Given the description of an element on the screen output the (x, y) to click on. 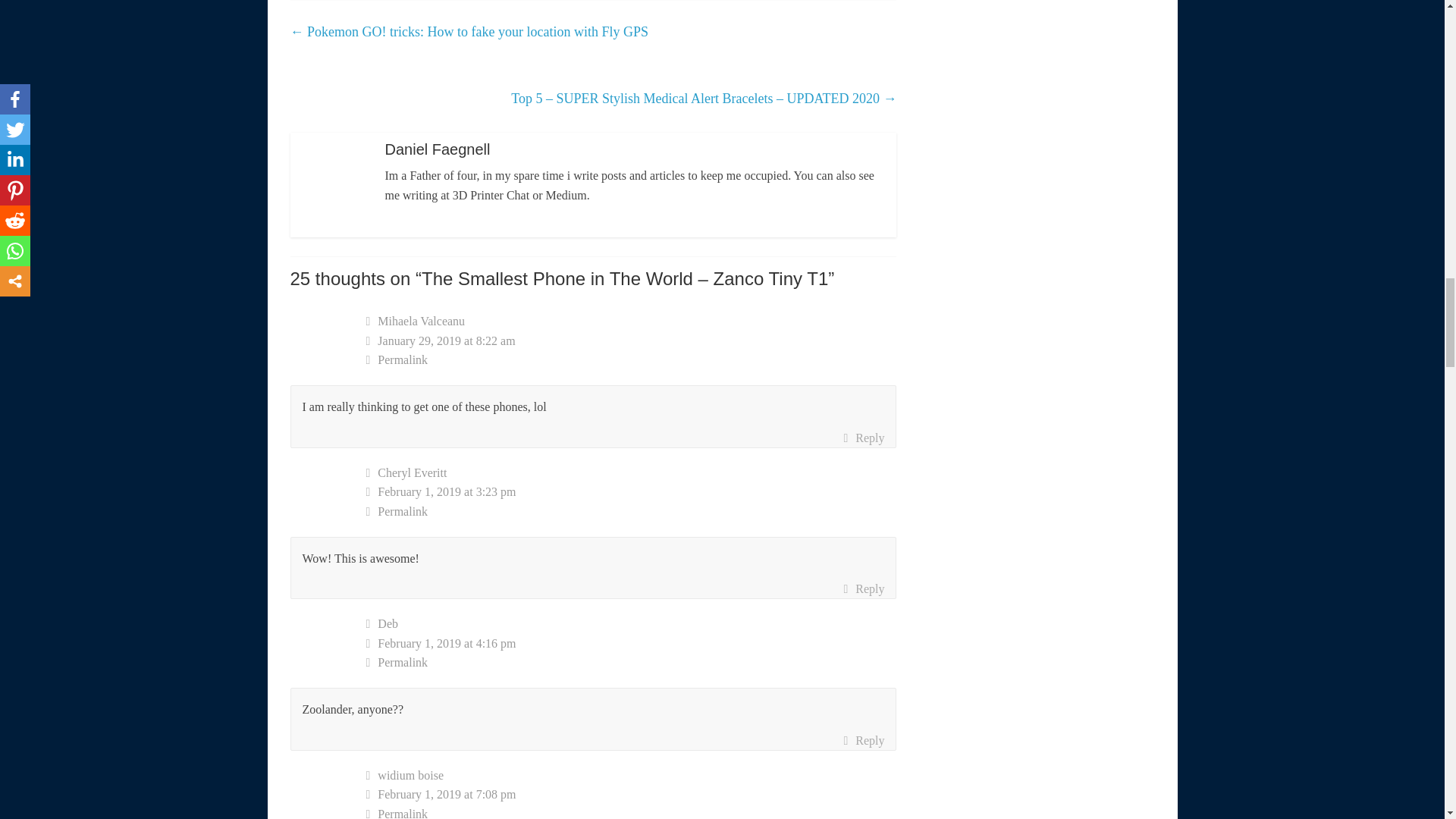
Permalink (630, 360)
Reply (863, 437)
Reply (863, 588)
Permalink (630, 511)
Permalink (630, 662)
Permalink (630, 811)
Reply (863, 741)
